Given the description of an element on the screen output the (x, y) to click on. 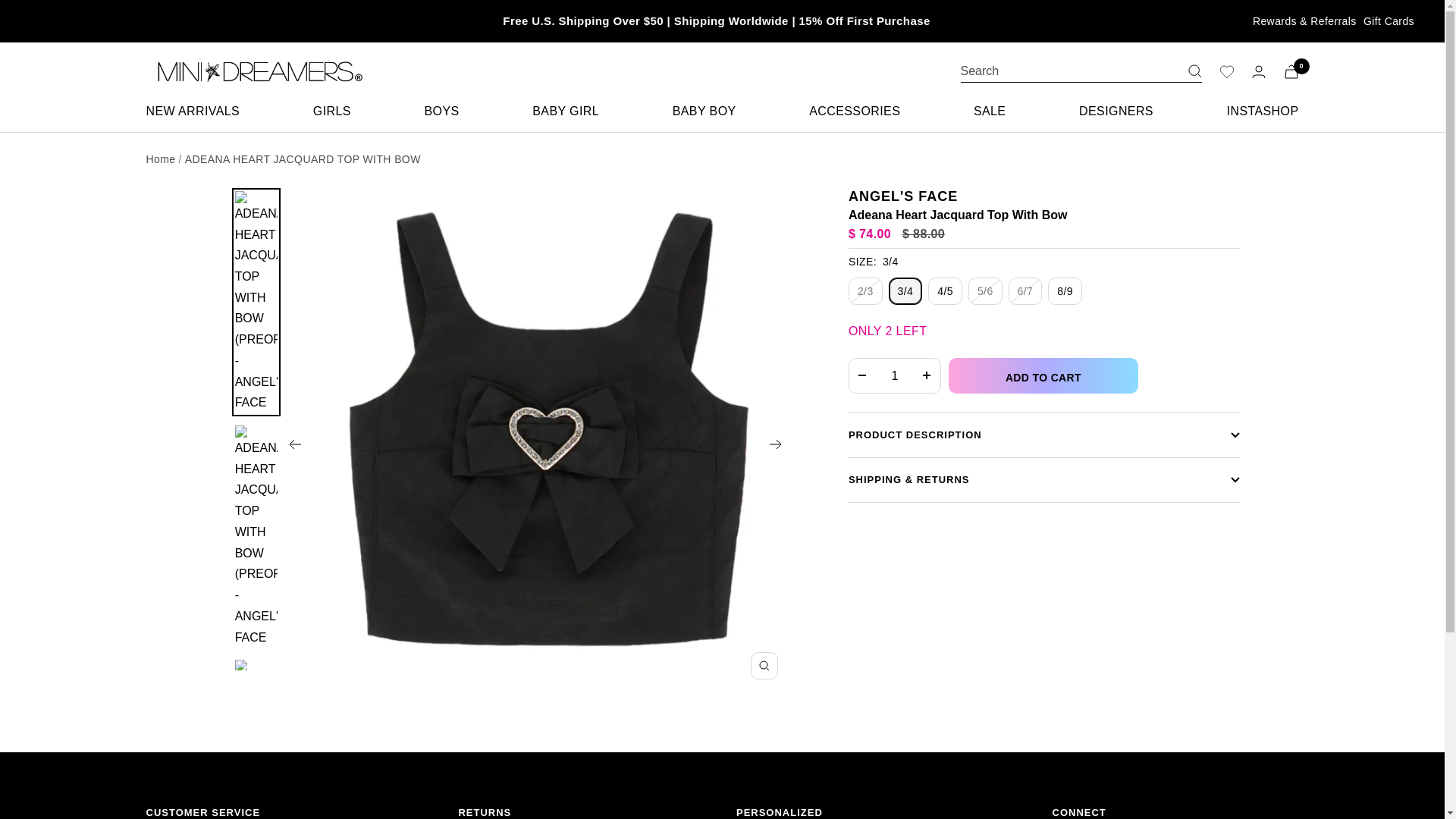
NEW ARRIVALS (192, 111)
ADD TO CART (1043, 375)
BABY BOY (704, 111)
Gift Cards (1387, 21)
Increase quantity (927, 375)
ACCESSORIES (854, 111)
BABY GIRL (565, 111)
SALE (990, 111)
1 (895, 375)
Mini Dreamers (255, 71)
Home (159, 159)
INSTASHOP (1262, 111)
ANGEL'S FACE (903, 196)
GIRLS (331, 111)
